Given the description of an element on the screen output the (x, y) to click on. 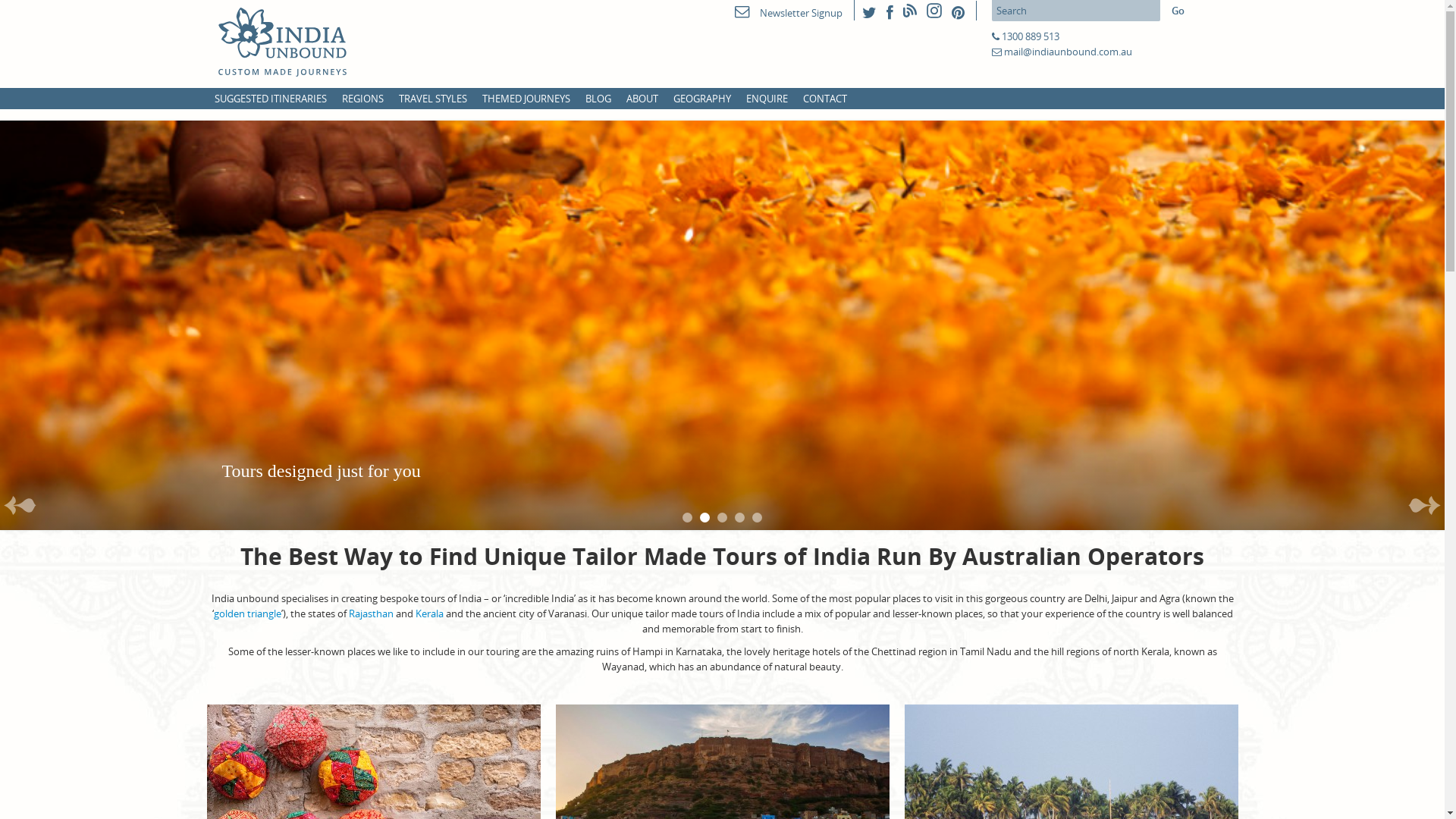
India Unbound Element type: text (305, 41)
SUGGESTED ITINERARIES Element type: text (269, 98)
golden triangle Element type: text (247, 613)
1300 889 513 Element type: text (1029, 36)
ABOUT Element type: text (642, 98)
Newsletter Signup Element type: text (787, 12)
1 Element type: text (687, 517)
mail@indiaunbound.com.au Element type: text (1068, 51)
4 Element type: text (739, 517)
ENQUIRE Element type: text (766, 98)
Rajasthan Element type: text (370, 613)
REGIONS Element type: text (361, 98)
GEOGRAPHY Element type: text (702, 98)
THEMED JOURNEYS Element type: text (526, 98)
3 Element type: text (722, 517)
2 Element type: text (704, 517)
BLOG Element type: text (598, 98)
Tours designed just for you Element type: text (722, 325)
Go Element type: text (1176, 10)
5 Element type: text (757, 517)
Kerala Element type: text (429, 613)
CONTACT Element type: text (824, 98)
Skip to primary content Element type: text (53, 7)
TRAVEL STYLES Element type: text (432, 98)
